Given the description of an element on the screen output the (x, y) to click on. 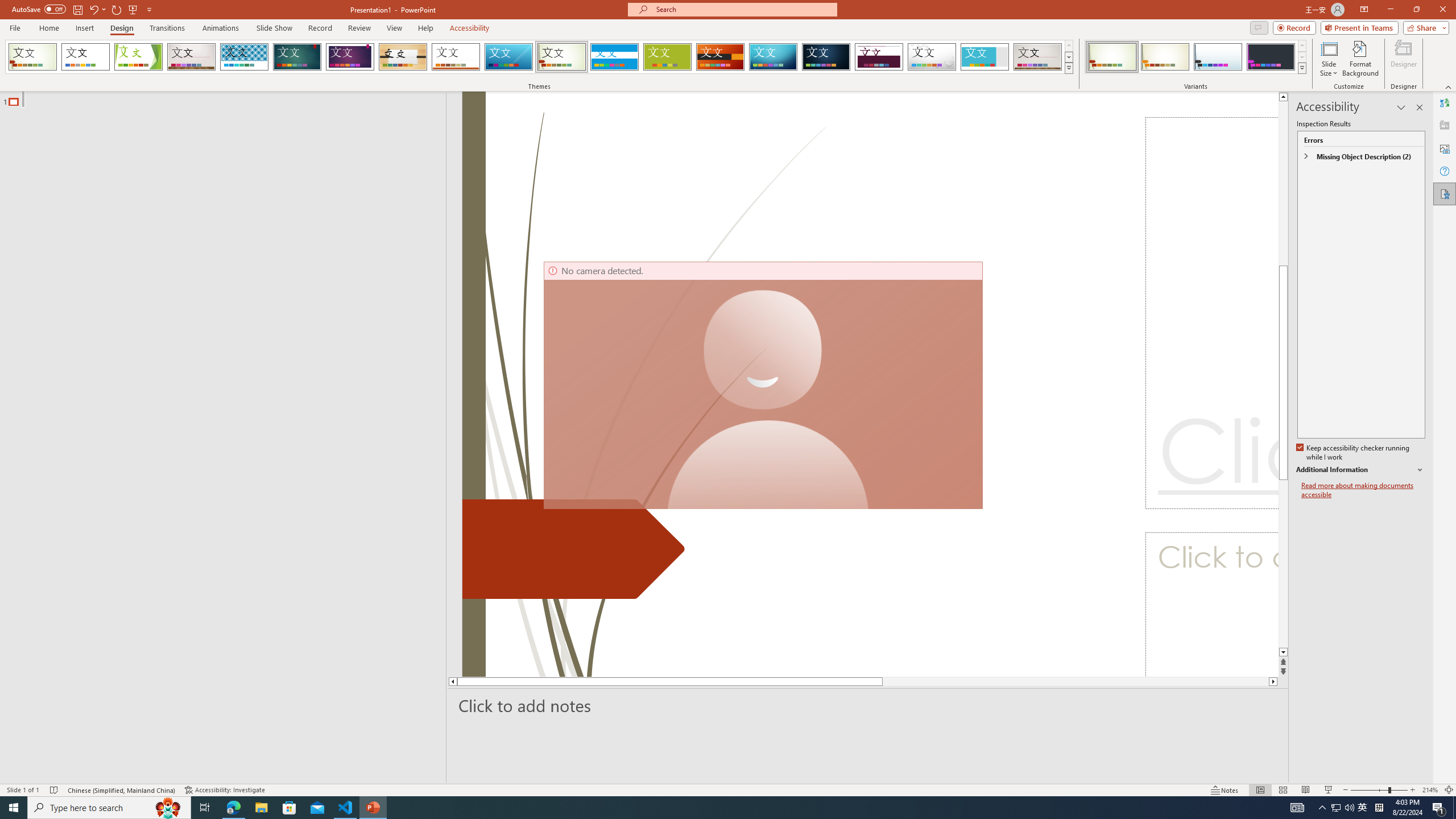
Frame (984, 56)
Droplet (931, 56)
Additional Information (1360, 469)
Integral (244, 56)
Alt Text (1444, 147)
Page down (1052, 681)
